Given the description of an element on the screen output the (x, y) to click on. 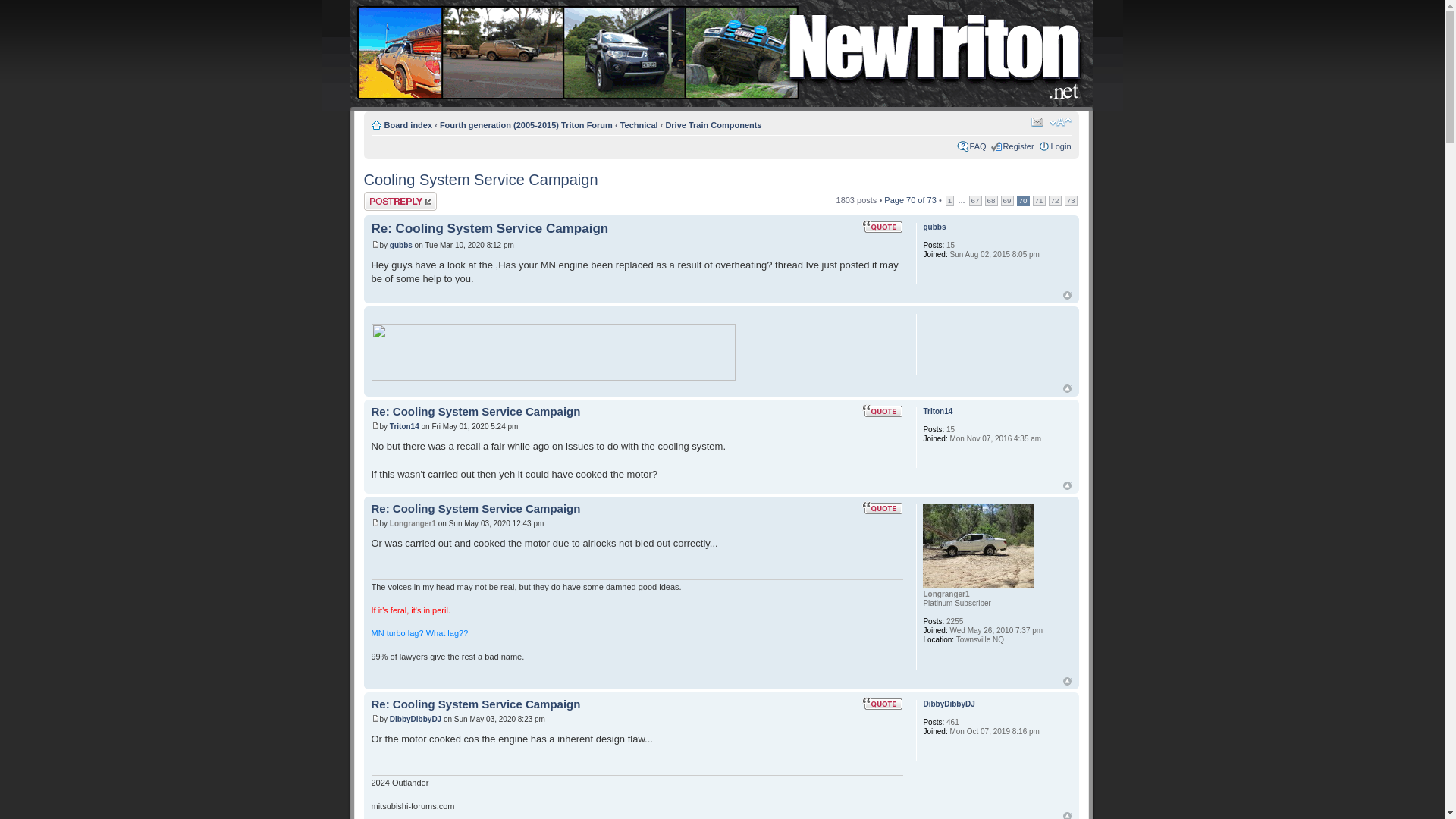
Reply with quote (881, 507)
Board index (408, 124)
Login (1061, 145)
Top (1066, 388)
Change font size (1060, 121)
gubbs (401, 244)
Technical (639, 124)
Triton14 (937, 411)
Drive Train Components (713, 124)
Register (1018, 145)
Change font size (1060, 121)
Login (1061, 145)
Reply with quote (881, 410)
Top (1066, 388)
Triton14 (404, 426)
